Given the description of an element on the screen output the (x, y) to click on. 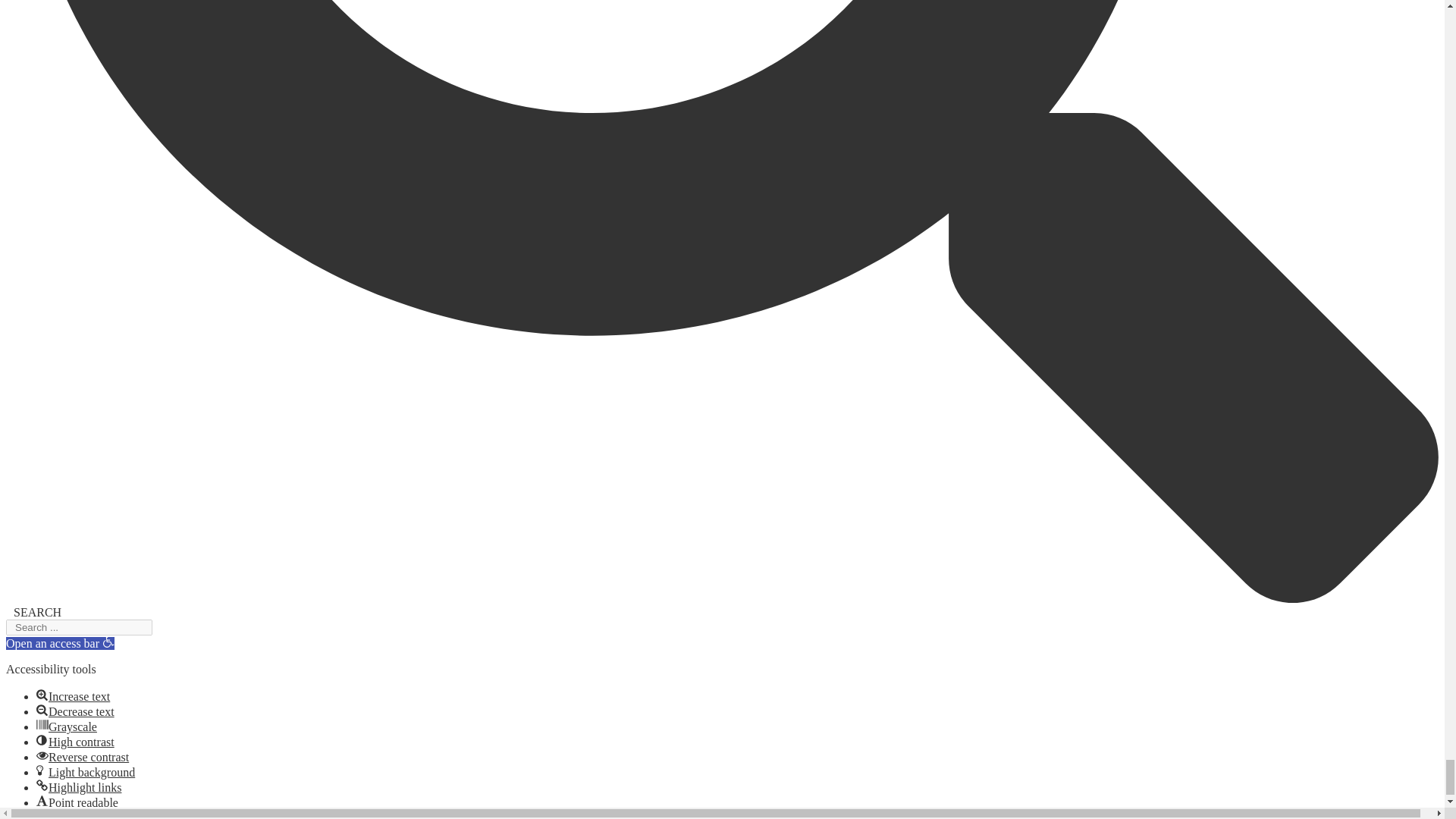
Reverse contrast (42, 755)
Highlight links (42, 785)
Grayscale (42, 725)
Increase text (42, 694)
Point readable (42, 800)
Decrease text (42, 709)
Accessibility tools (108, 641)
High contrast (42, 739)
Light background (42, 770)
